Given the description of an element on the screen output the (x, y) to click on. 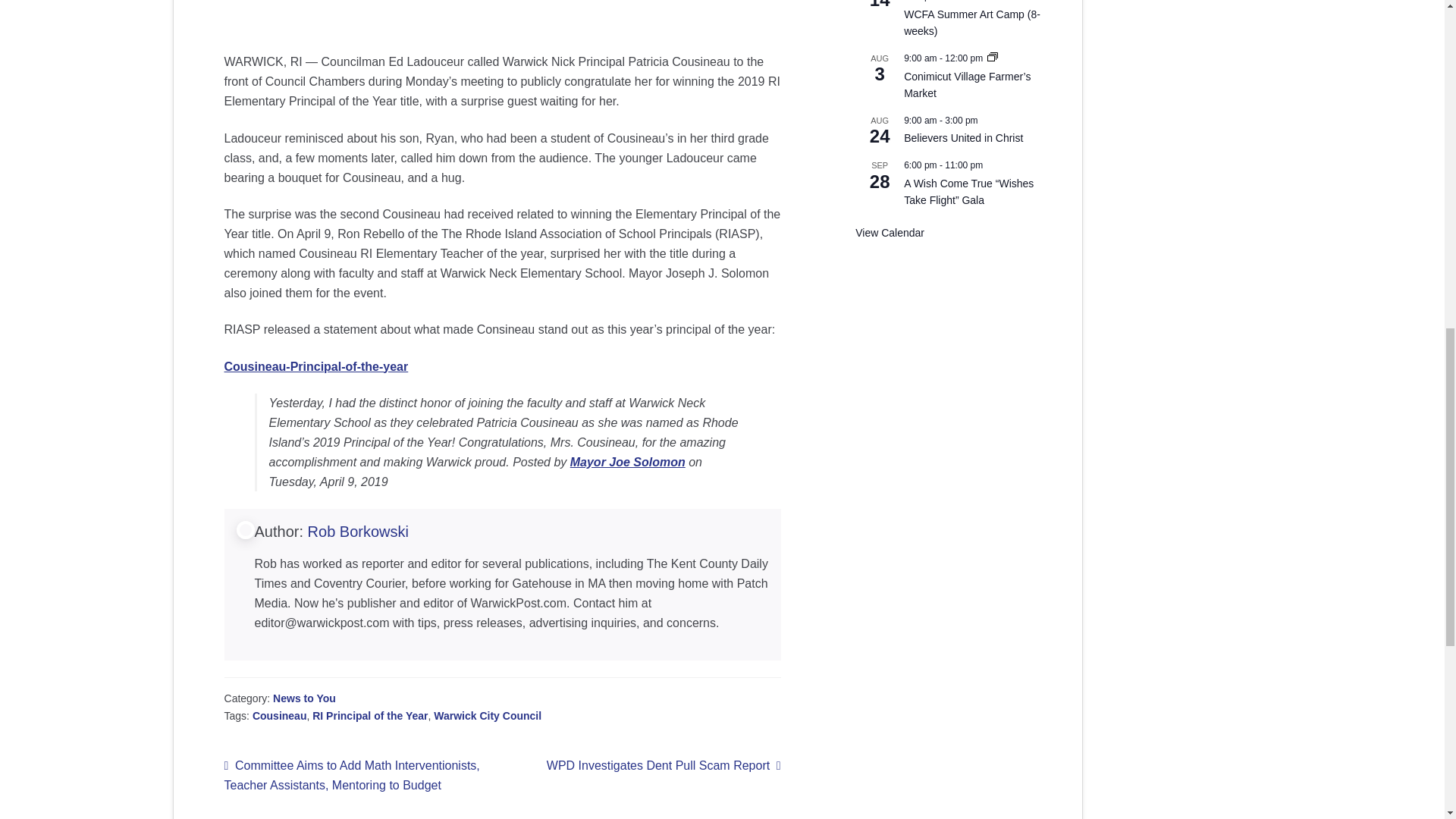
View more events. (890, 232)
Believers United in Christ (963, 137)
Event Series (992, 58)
